Given the description of an element on the screen output the (x, y) to click on. 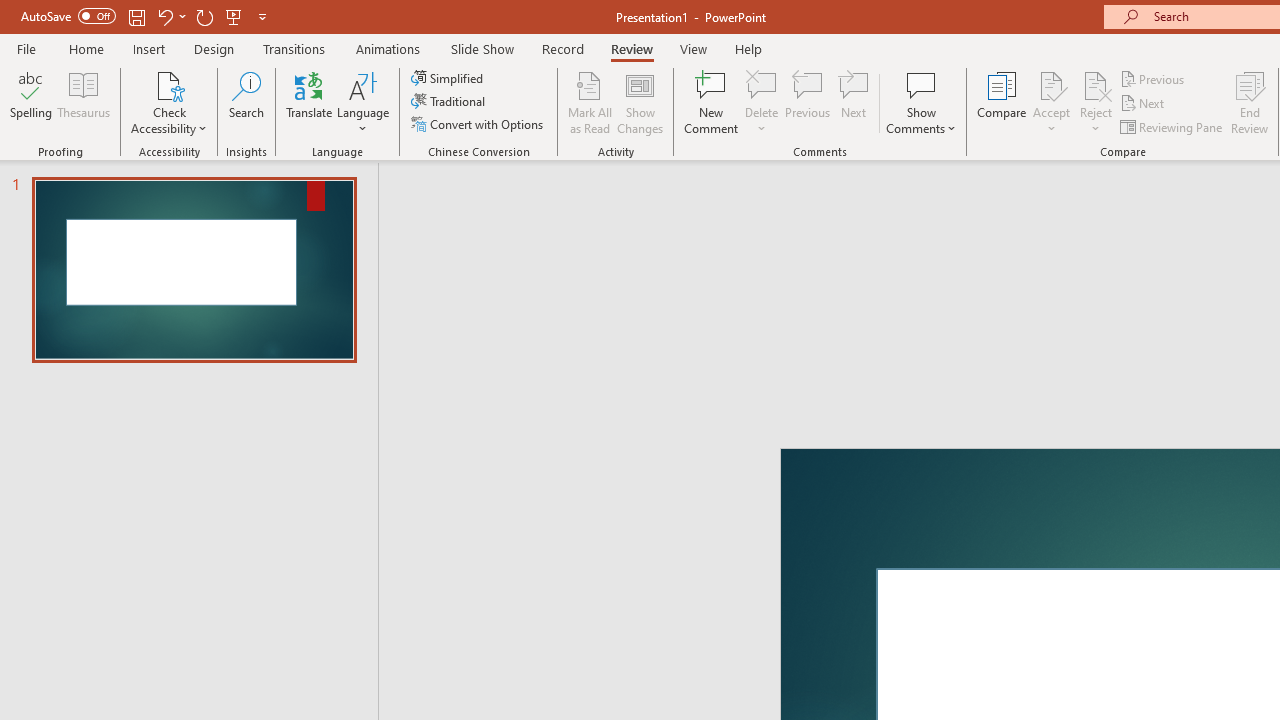
Traditional (449, 101)
Mark All as Read (589, 102)
Compare (1002, 102)
Spelling... (31, 102)
Translate (309, 102)
New Comment (711, 102)
End Review (1249, 102)
Show Changes (639, 102)
